Given the description of an element on the screen output the (x, y) to click on. 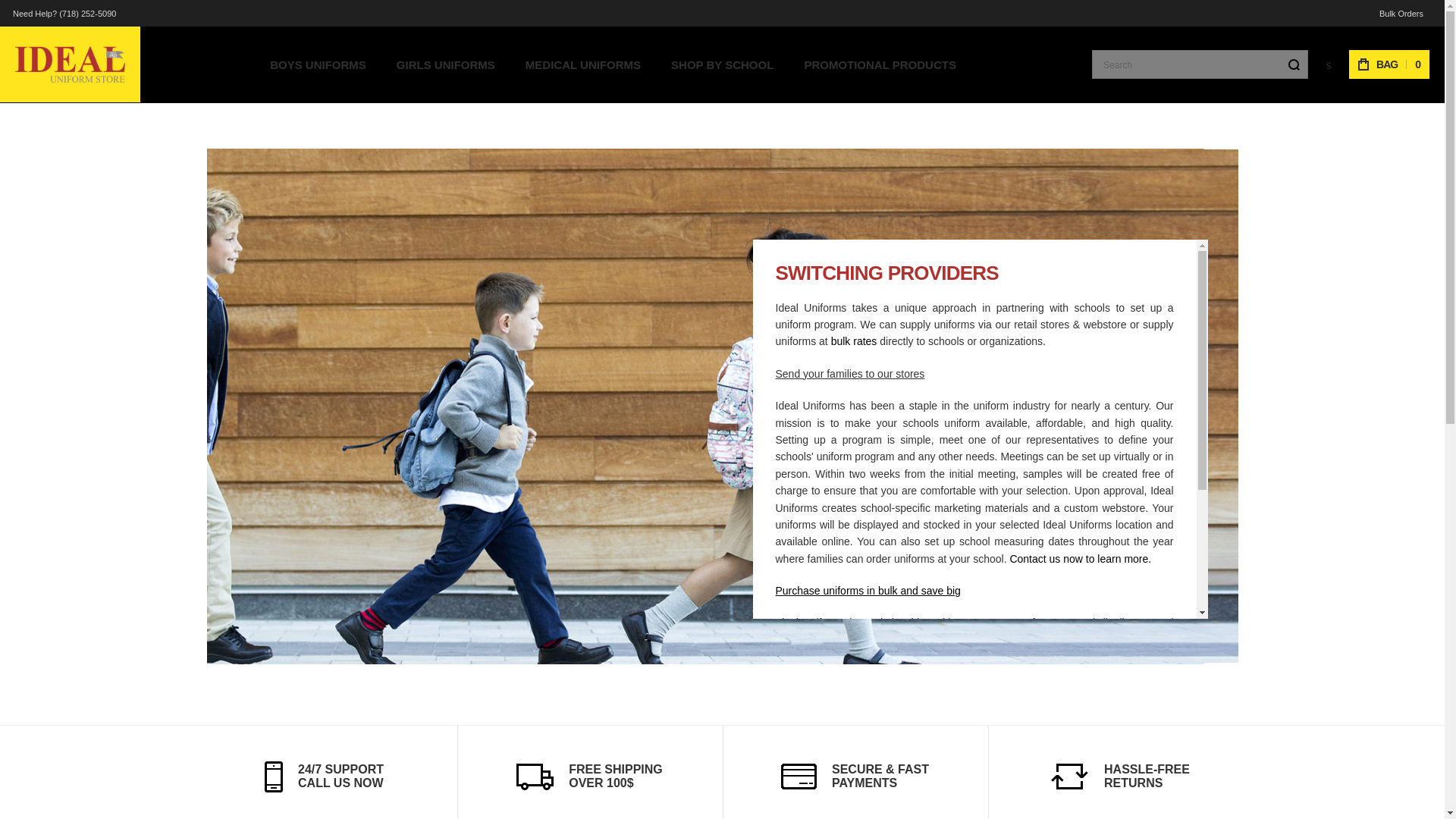
Bulk Orders (1401, 13)
GIRLS UNIFORMS (446, 64)
BOYS UNIFORMS (317, 64)
Go (1293, 63)
